Given the description of an element on the screen output the (x, y) to click on. 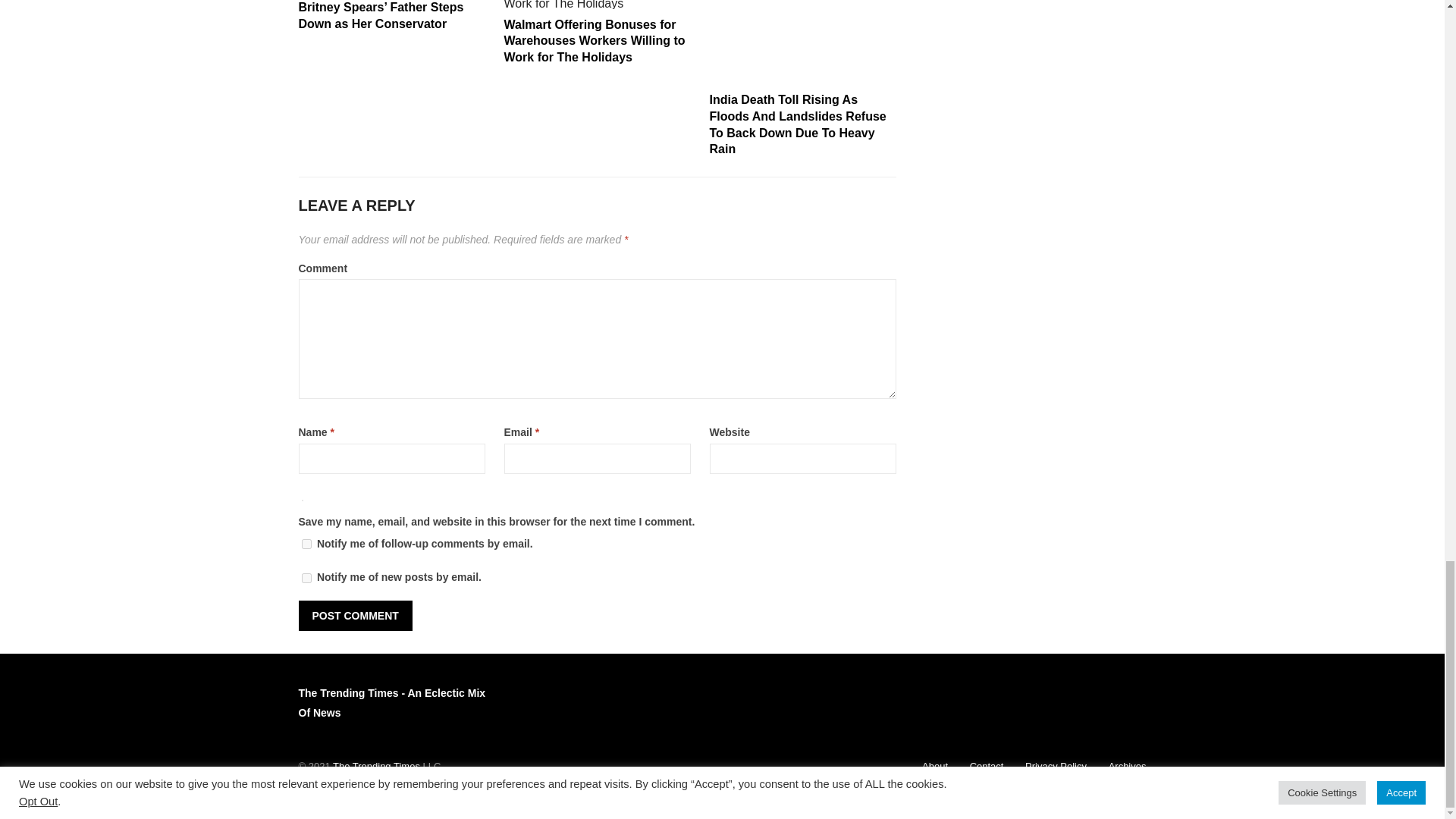
Post Comment (355, 615)
subscribe (306, 543)
subscribe (306, 578)
